Given the description of an element on the screen output the (x, y) to click on. 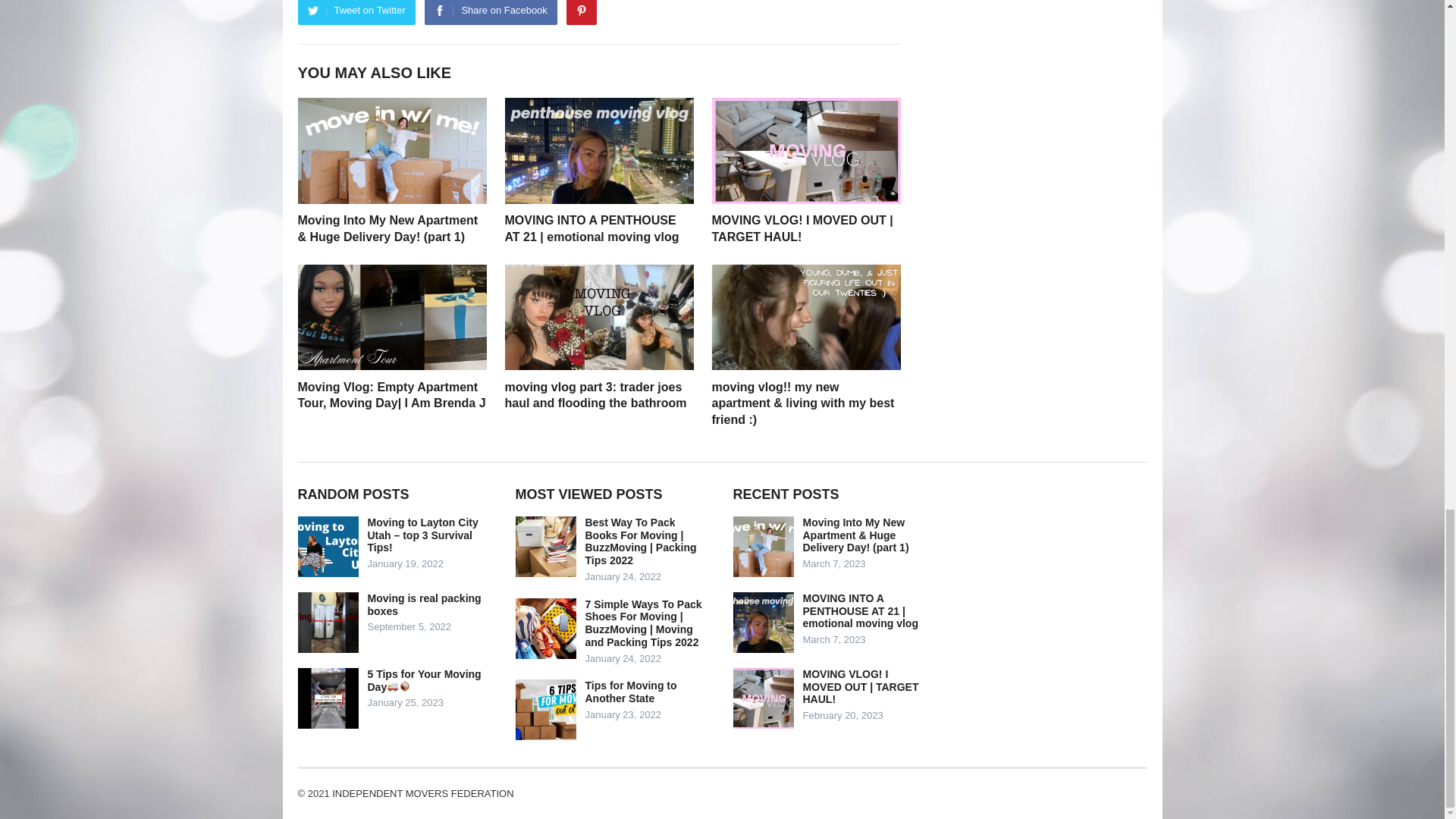
Pinterest (581, 12)
Tweet on Twitter (355, 12)
Share on Facebook (490, 12)
